Given the description of an element on the screen output the (x, y) to click on. 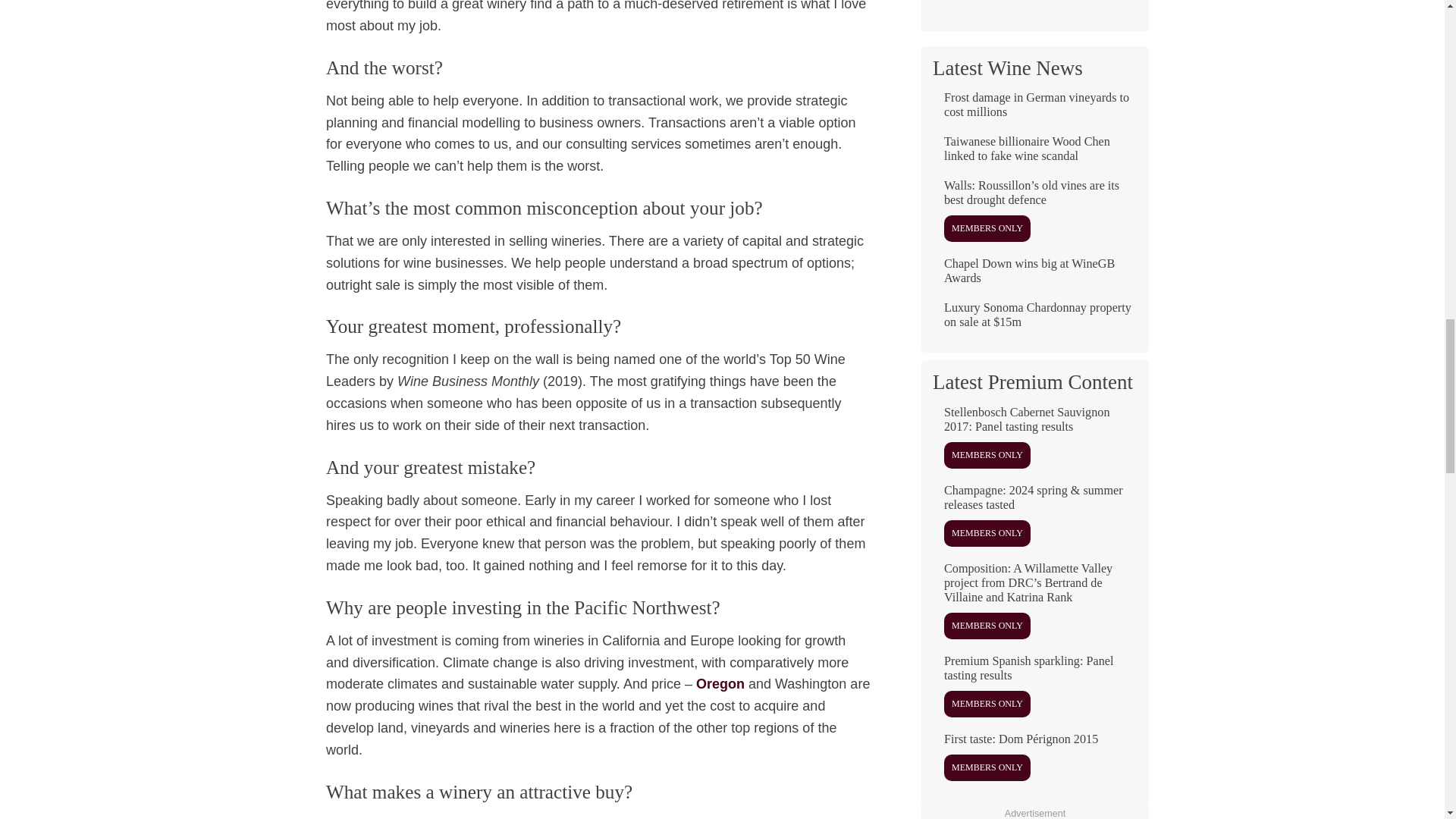
Stellenbosch Cabernet Sauvignon 2017: Panel tasting results (1035, 442)
Chapel Down wins big at WineGB Awards (1035, 277)
Frost damage in German vineyards to cost millions (1035, 110)
Premium Spanish sparkling: Panel tasting results (1035, 691)
Taiwanese billionaire Wood Chen linked to fake wine scandal (1035, 155)
